Given the description of an element on the screen output the (x, y) to click on. 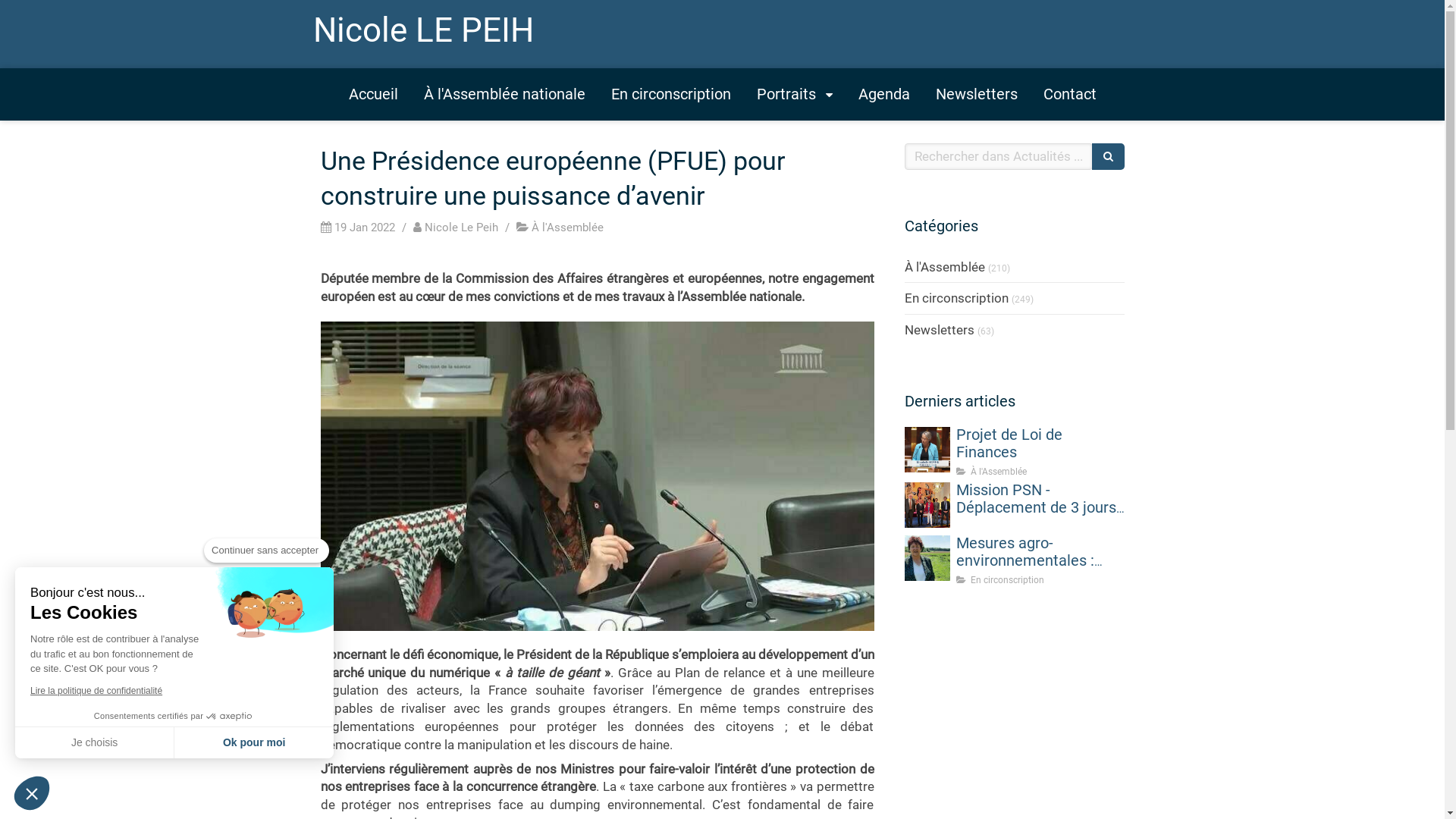
En circonscription Element type: text (670, 94)
En circonscription Element type: text (955, 297)
Agenda Element type: text (883, 94)
Newsletters Element type: text (975, 94)
Projet de Loi de Finances Element type: hover (926, 449)
Nicole Le Peih Element type: text (458, 227)
Accueil Element type: text (372, 94)
Contact Element type: text (1069, 94)
Newsletters Element type: text (938, 329)
Projet de Loi de Finances Element type: text (1008, 443)
